Given the description of an element on the screen output the (x, y) to click on. 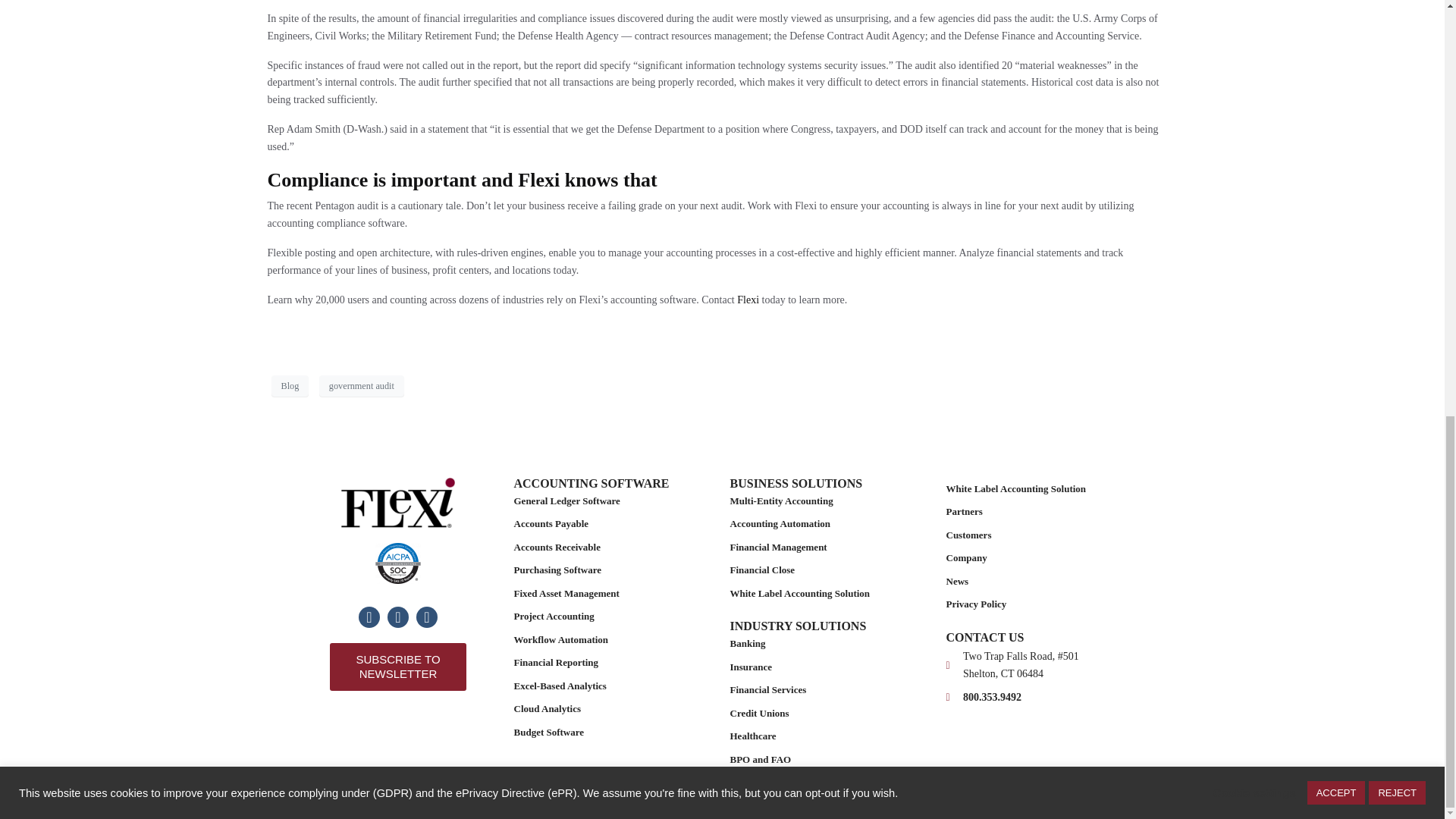
SOC (397, 562)
